Given the description of an element on the screen output the (x, y) to click on. 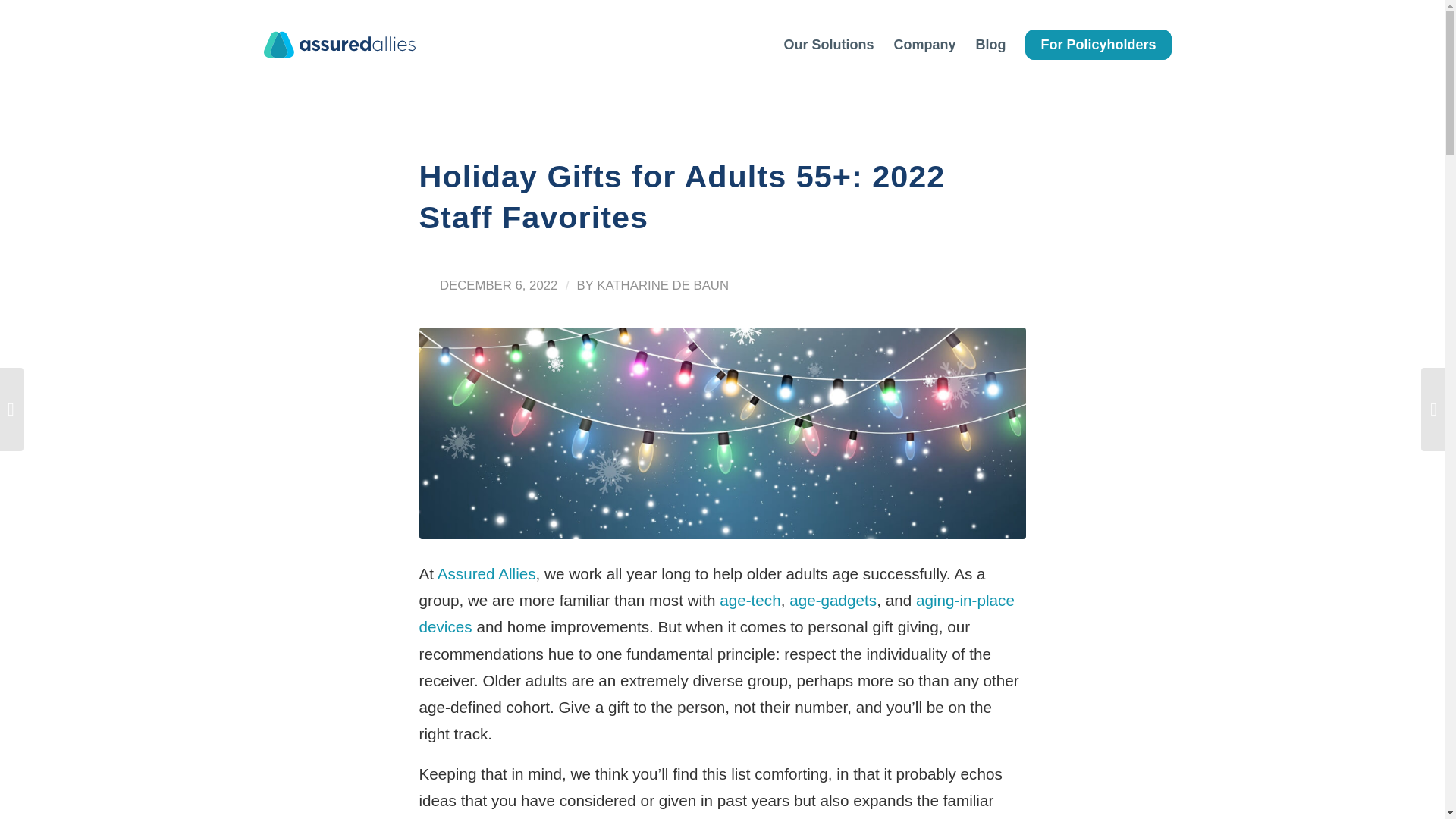
aging-in-place devices (716, 613)
age-tech (749, 600)
KATHARINE DE BAUN (662, 285)
assured-logo-dark (338, 44)
age-gadgets (832, 600)
Company (924, 44)
Assured Allies (486, 573)
Our Solutions (828, 44)
Posts by Katharine de Baun (662, 285)
For Policyholders (1097, 44)
